Given the description of an element on the screen output the (x, y) to click on. 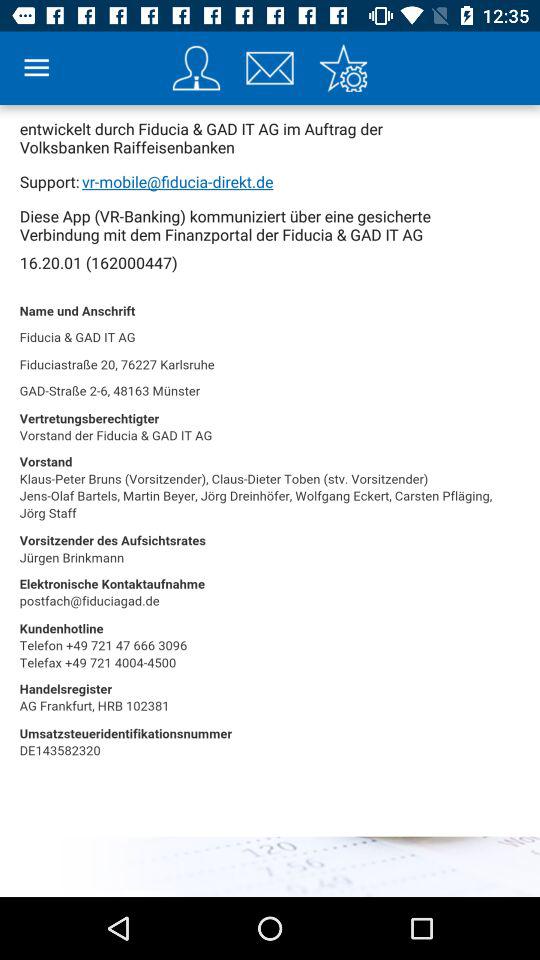
message for view or send (269, 67)
